Given the description of an element on the screen output the (x, y) to click on. 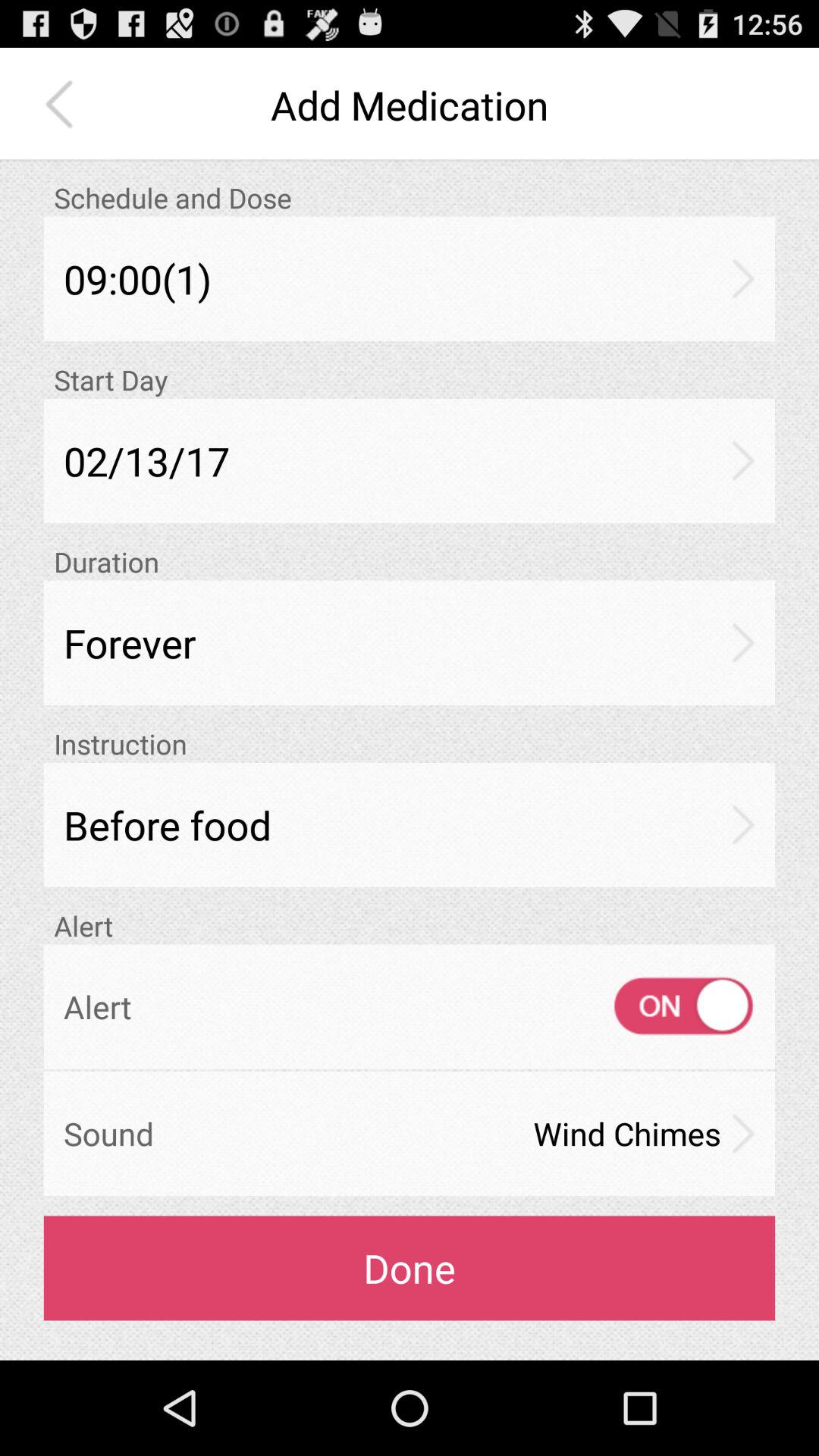
select icon above the duration app (409, 460)
